Given the description of an element on the screen output the (x, y) to click on. 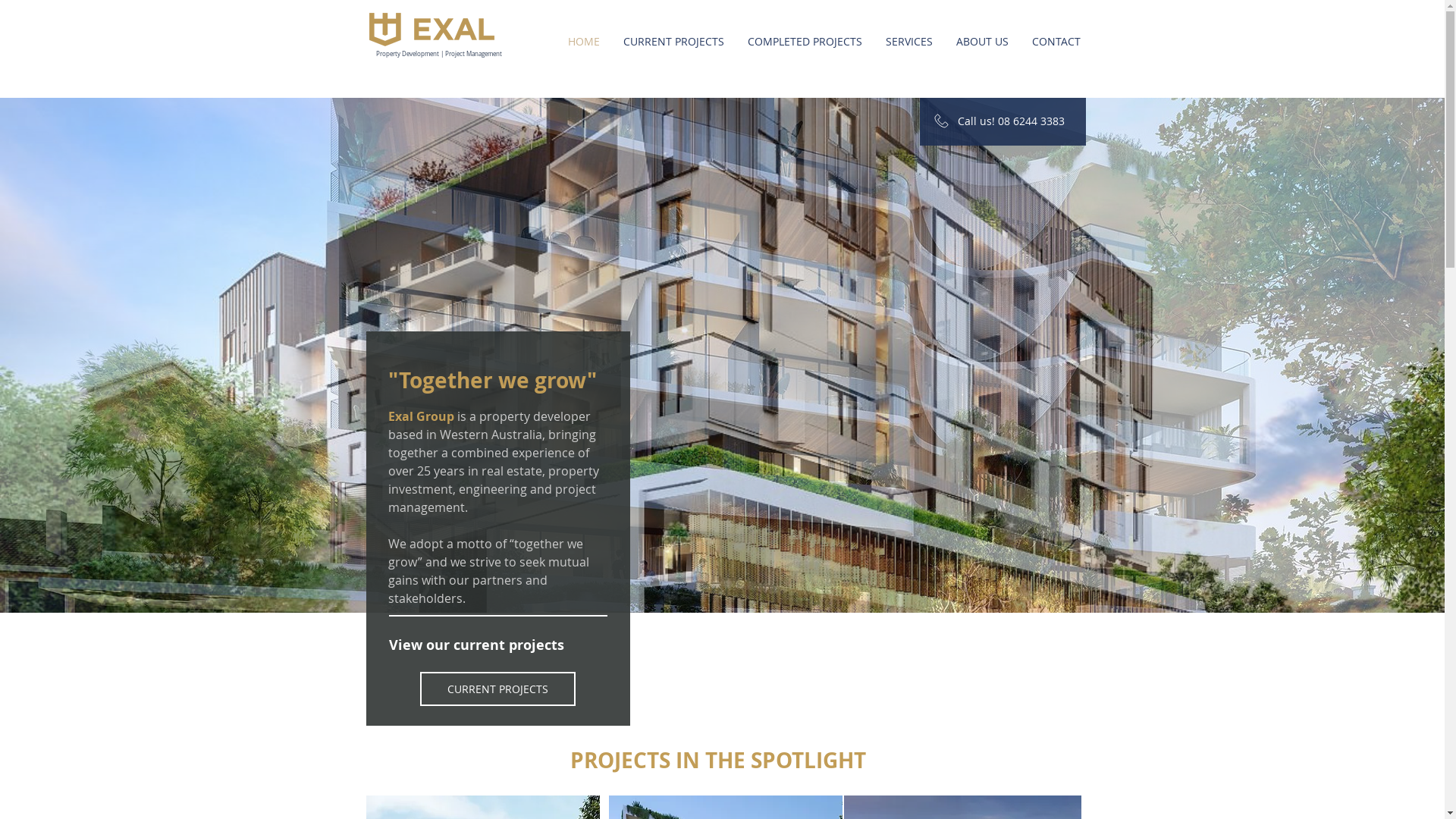
HOME Element type: text (583, 41)
COMPLETED PROJECTS Element type: text (804, 41)
CURRENT PROJECTS Element type: text (497, 688)
CONTACT Element type: text (1056, 41)
ABOUT US Element type: text (982, 41)
SERVICES Element type: text (908, 41)
CURRENT PROJECTS Element type: text (673, 41)
